Given the description of an element on the screen output the (x, y) to click on. 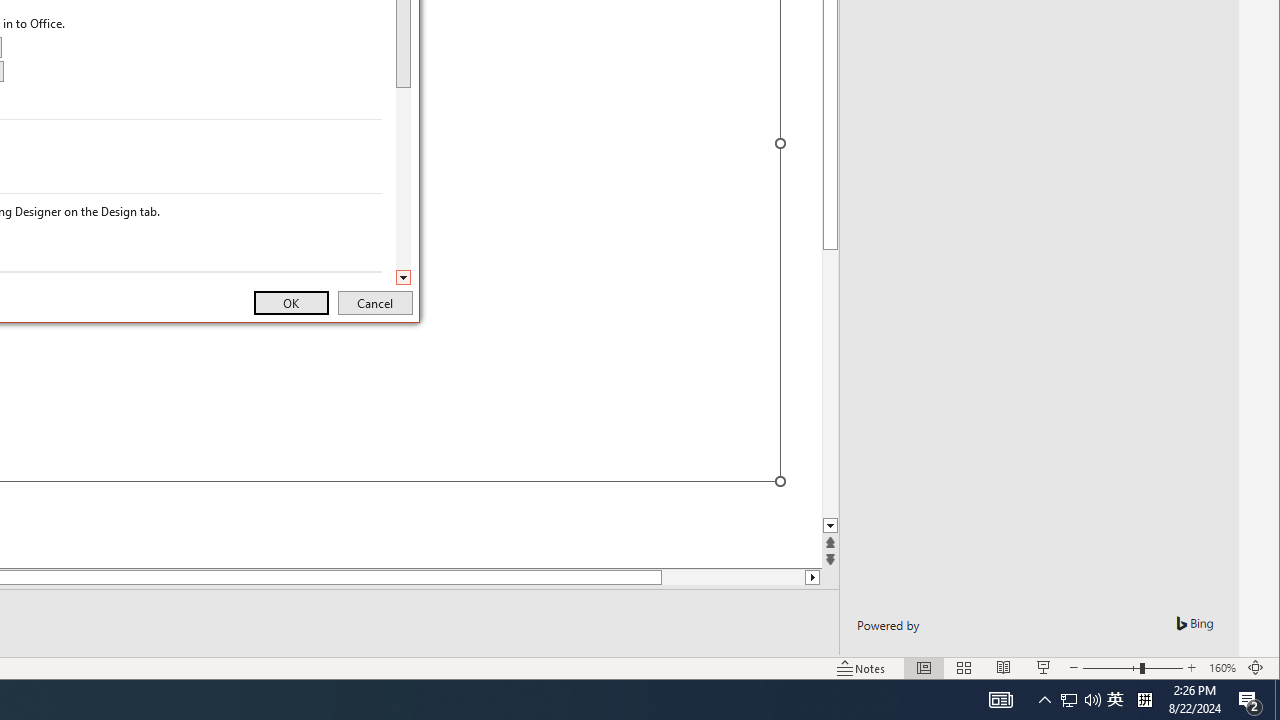
OK (290, 302)
Cancel (375, 302)
